Given the description of an element on the screen output the (x, y) to click on. 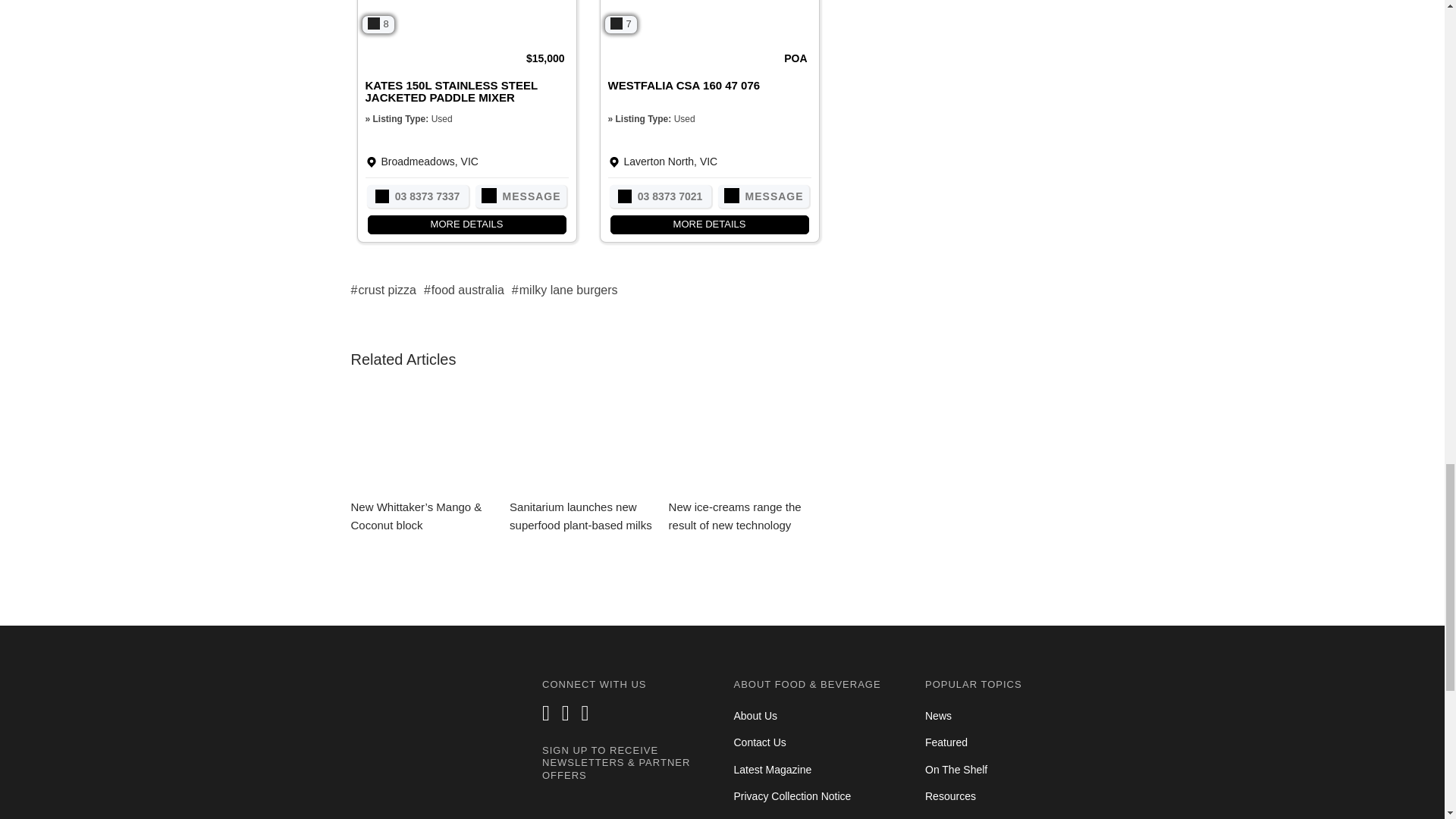
Newsletter signup for Footer (626, 806)
